Given the description of an element on the screen output the (x, y) to click on. 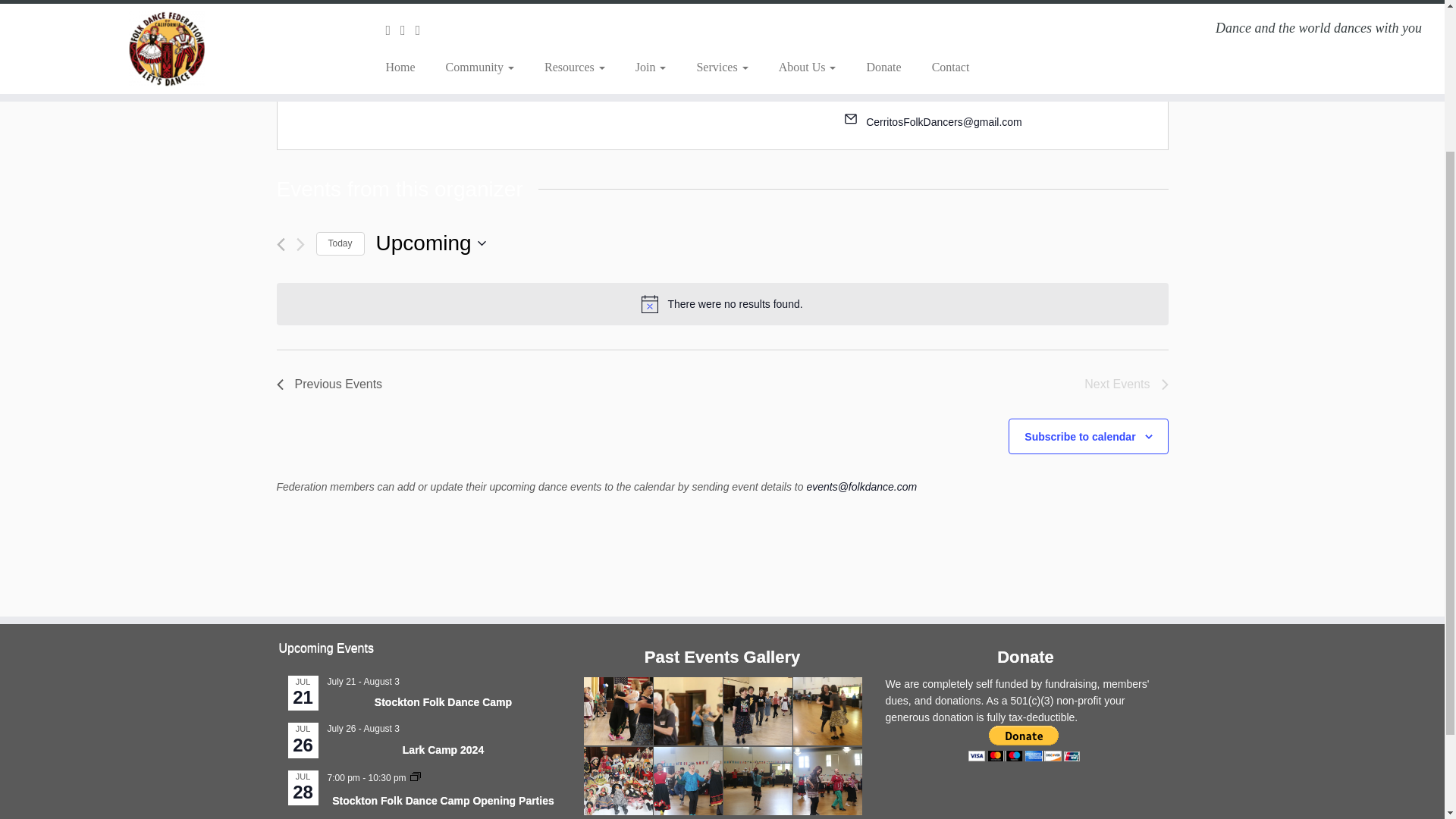
Click to select today's date (339, 243)
Next Events (1125, 383)
Previous Events (328, 383)
Event Series (415, 776)
Click to toggle datepicker (430, 243)
Stockton Folk Dance Camp (443, 702)
